Given the description of an element on the screen output the (x, y) to click on. 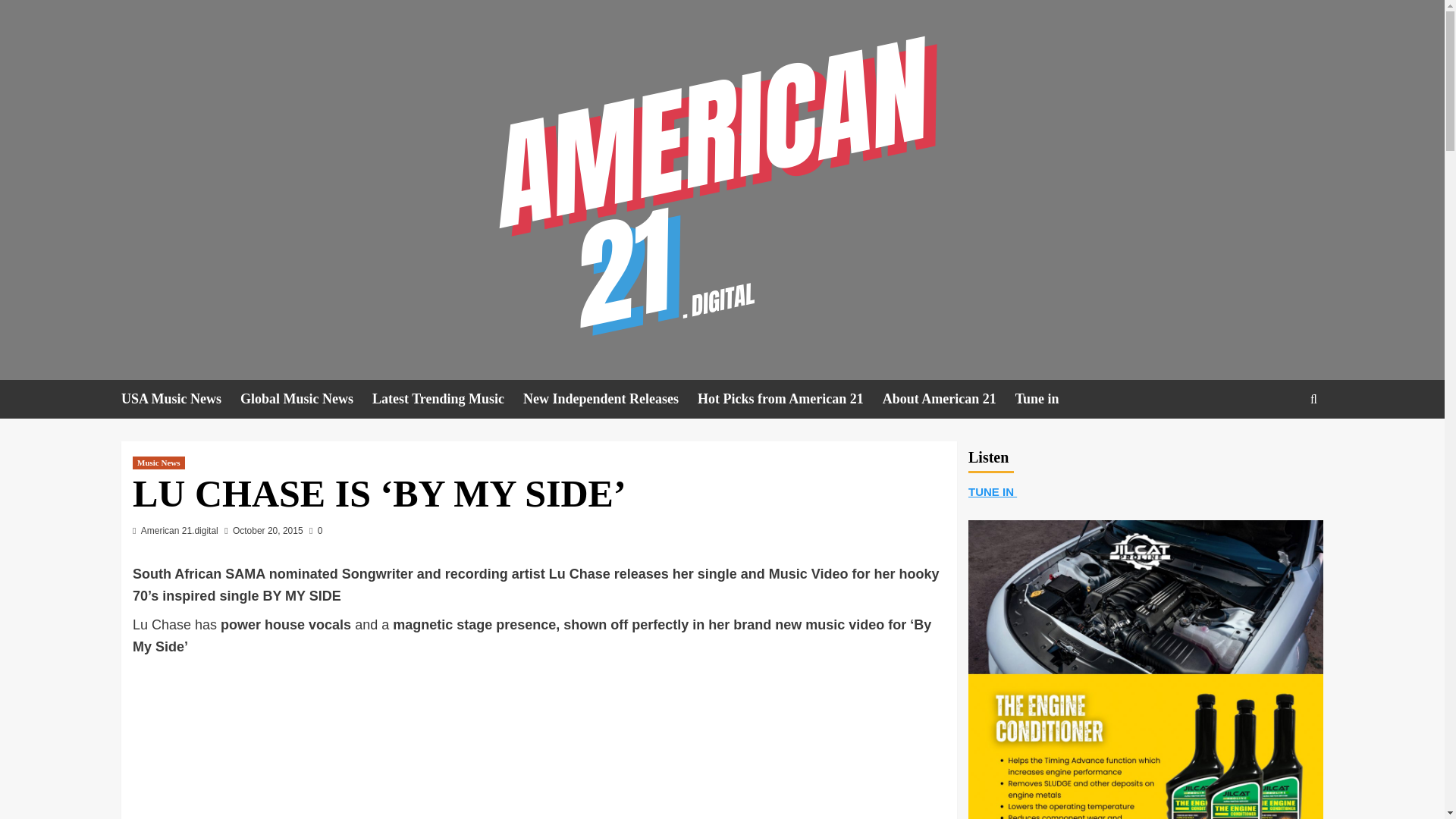
About American 21 (948, 399)
Hot Picks from American 21 (789, 399)
Tune in (1046, 399)
Global Music News (306, 399)
October 20, 2015 (267, 530)
Search (1278, 446)
0 (314, 530)
Latest Trending Music (447, 399)
American 21.digital (179, 530)
TUNE IN  (992, 491)
